Given the description of an element on the screen output the (x, y) to click on. 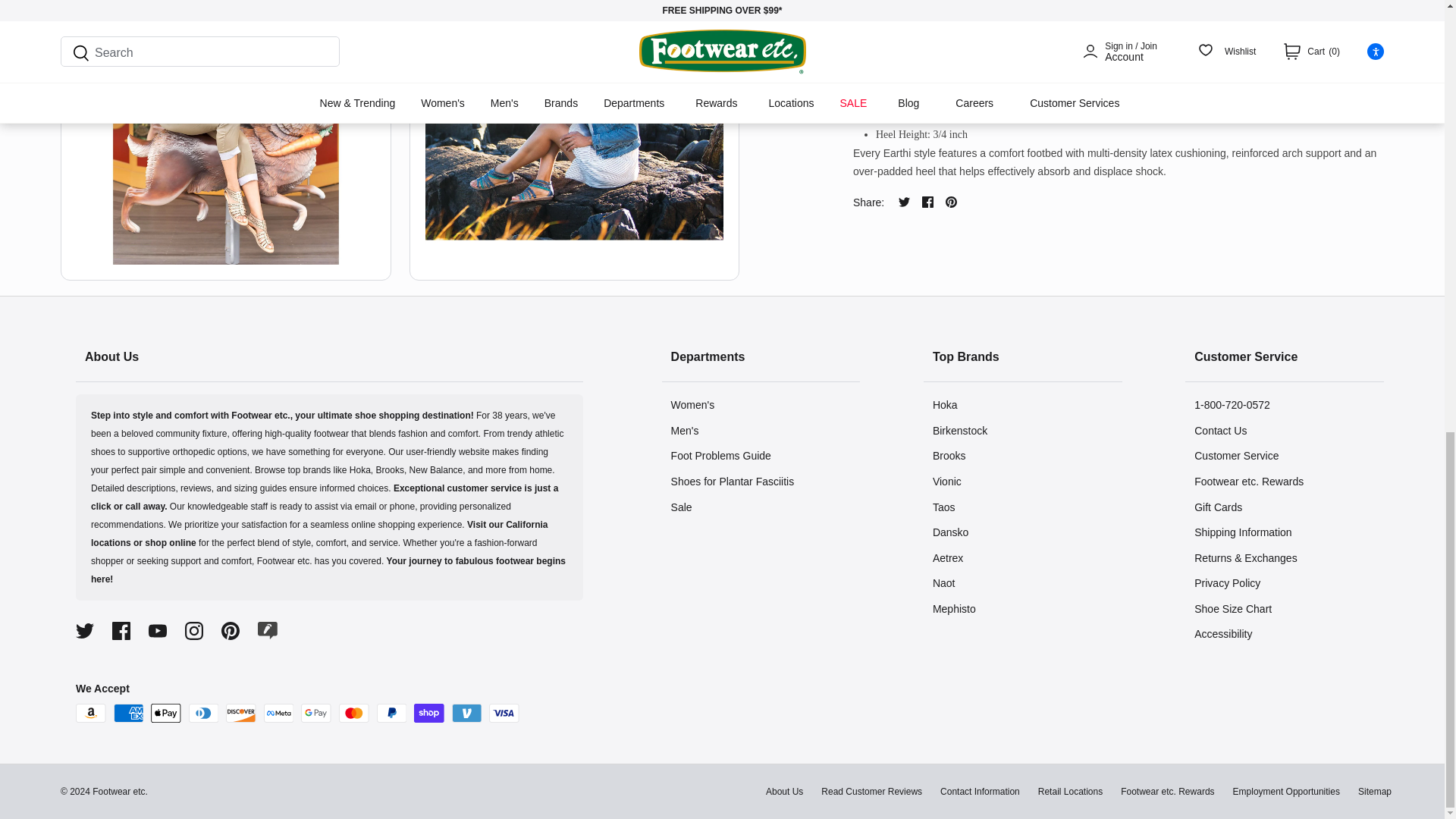
Pinterest (230, 630)
Twitter (904, 202)
Youtube (157, 630)
Instagram (193, 630)
Facebook (927, 202)
Pinterest (950, 202)
Facebook (121, 630)
Twitter (84, 630)
